Given the description of an element on the screen output the (x, y) to click on. 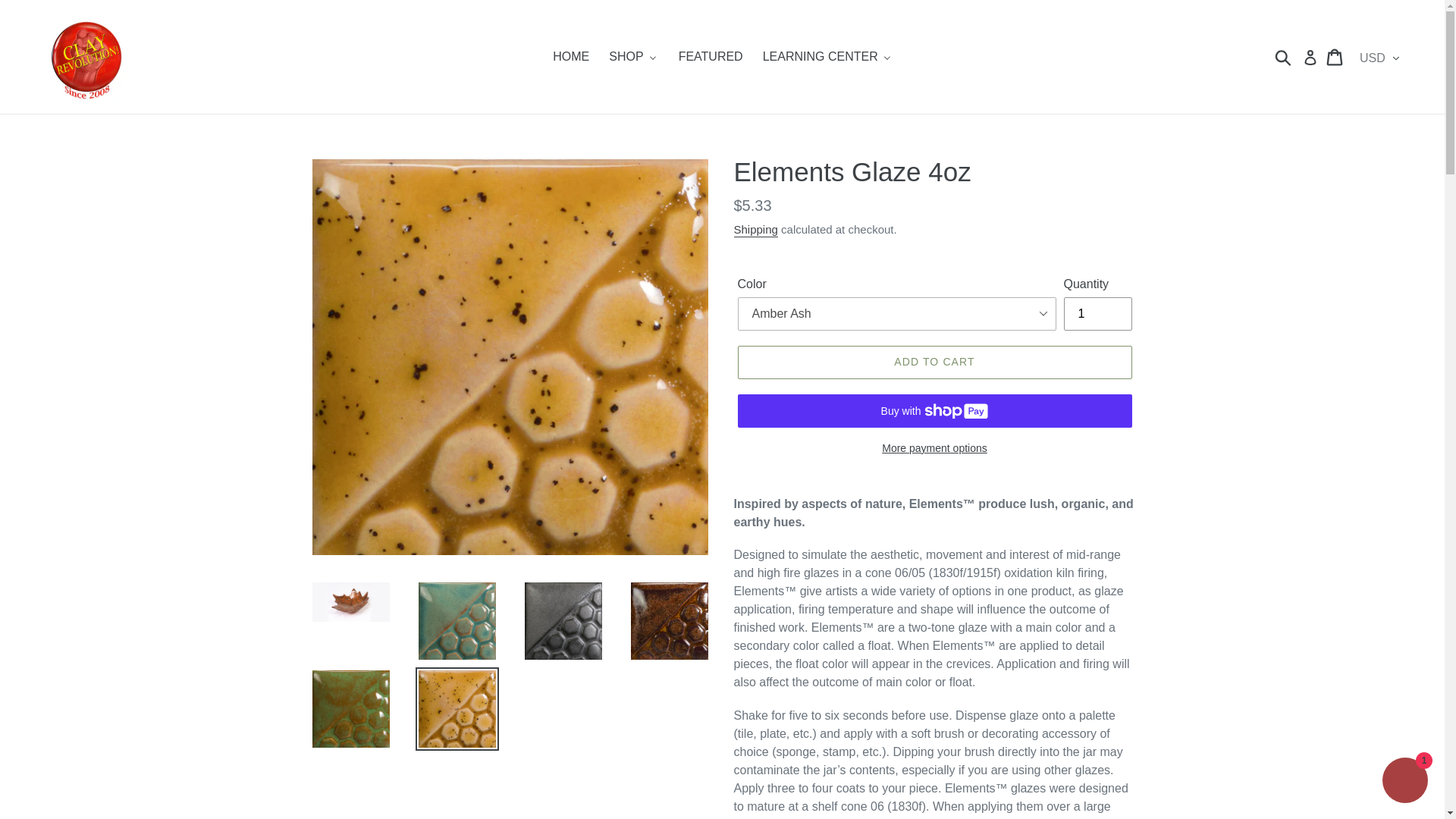
1 (1096, 313)
SHOP (632, 56)
HOME (569, 56)
LEARNING CENTER (827, 56)
FEATURED (710, 56)
